Given the description of an element on the screen output the (x, y) to click on. 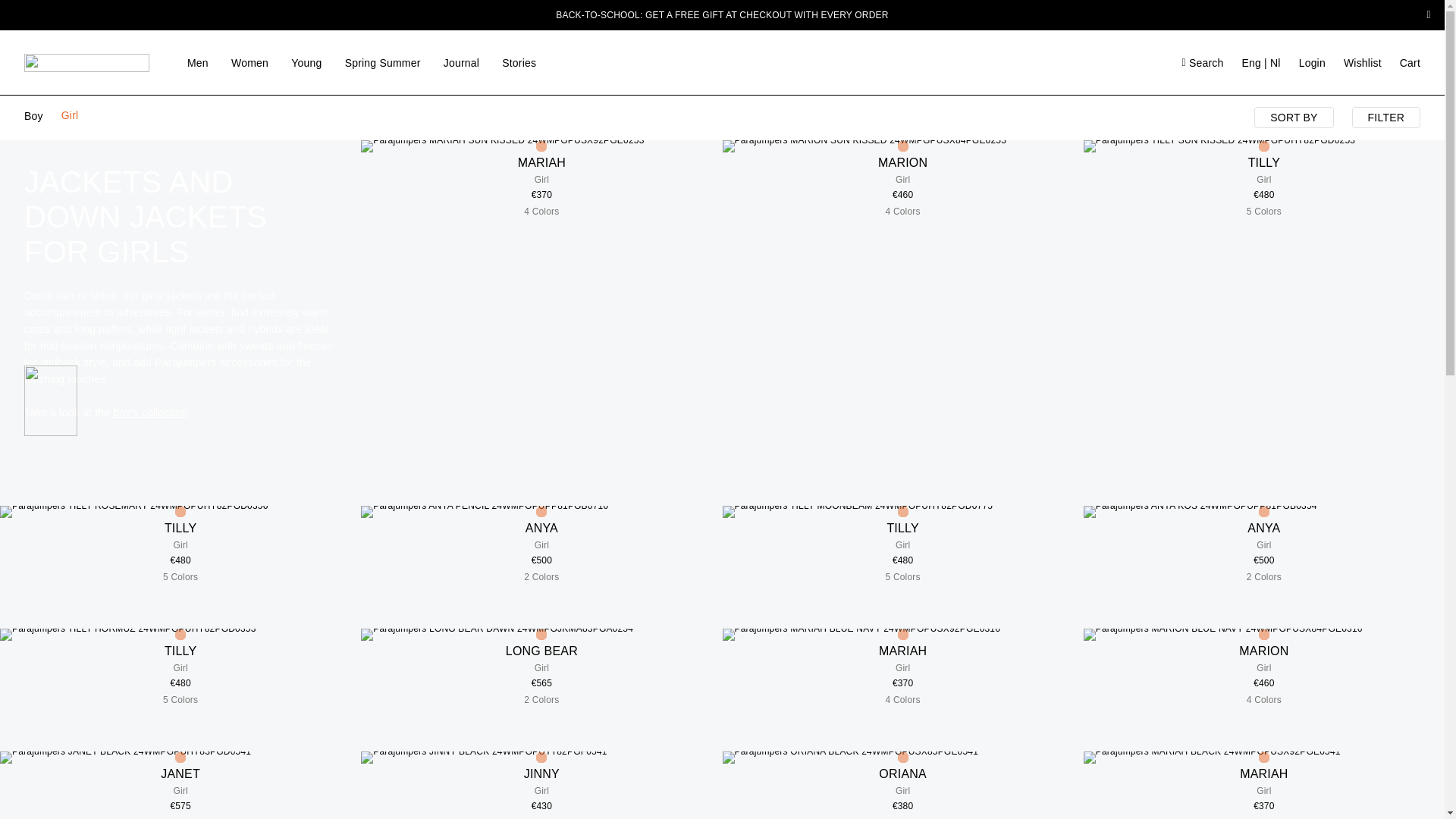
Register now (82, 166)
men (657, 123)
women (717, 123)
young (783, 123)
Men (197, 61)
Login (780, 216)
Search (881, 80)
